Given the description of an element on the screen output the (x, y) to click on. 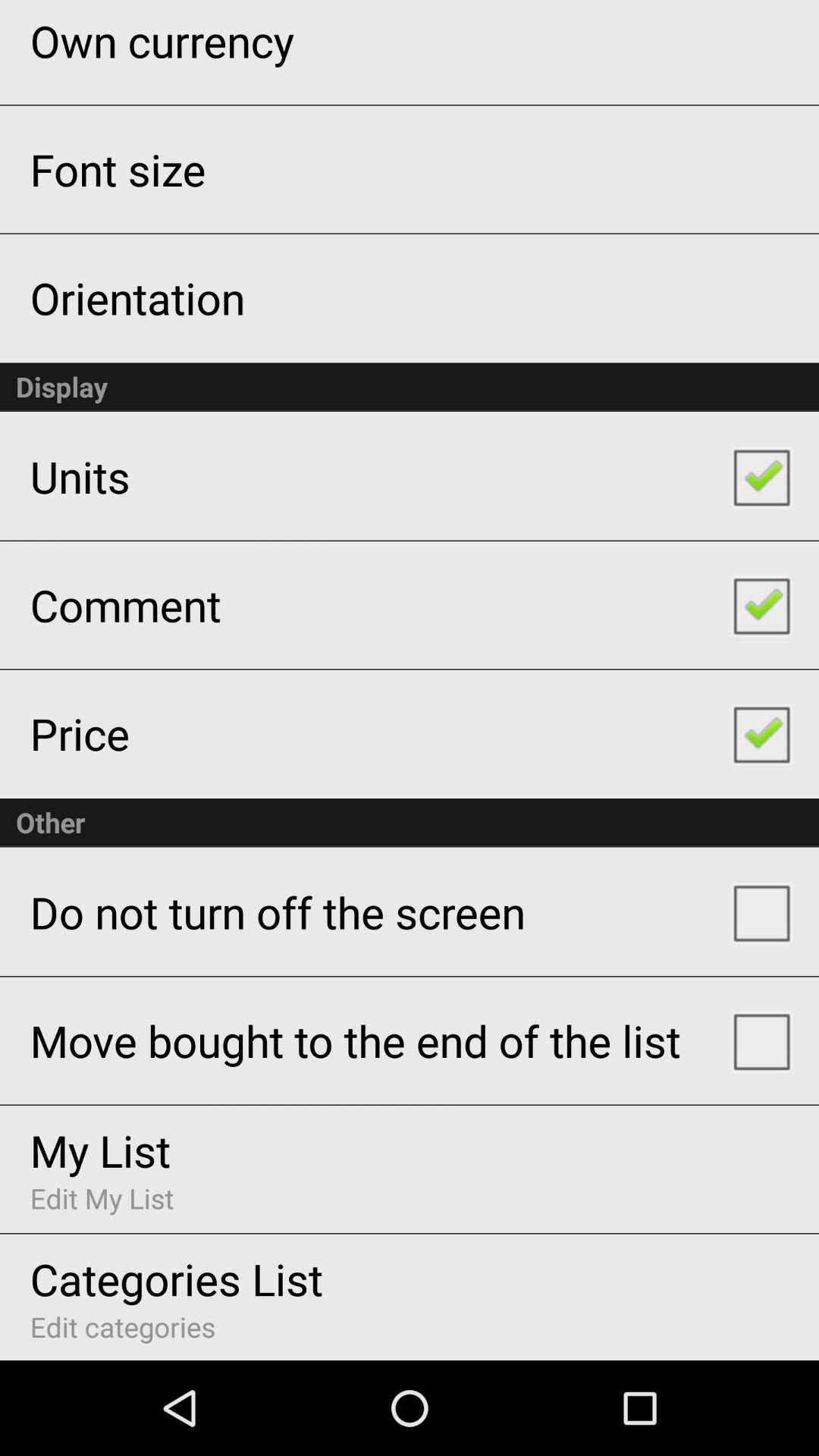
flip until the orientation app (137, 297)
